Given the description of an element on the screen output the (x, y) to click on. 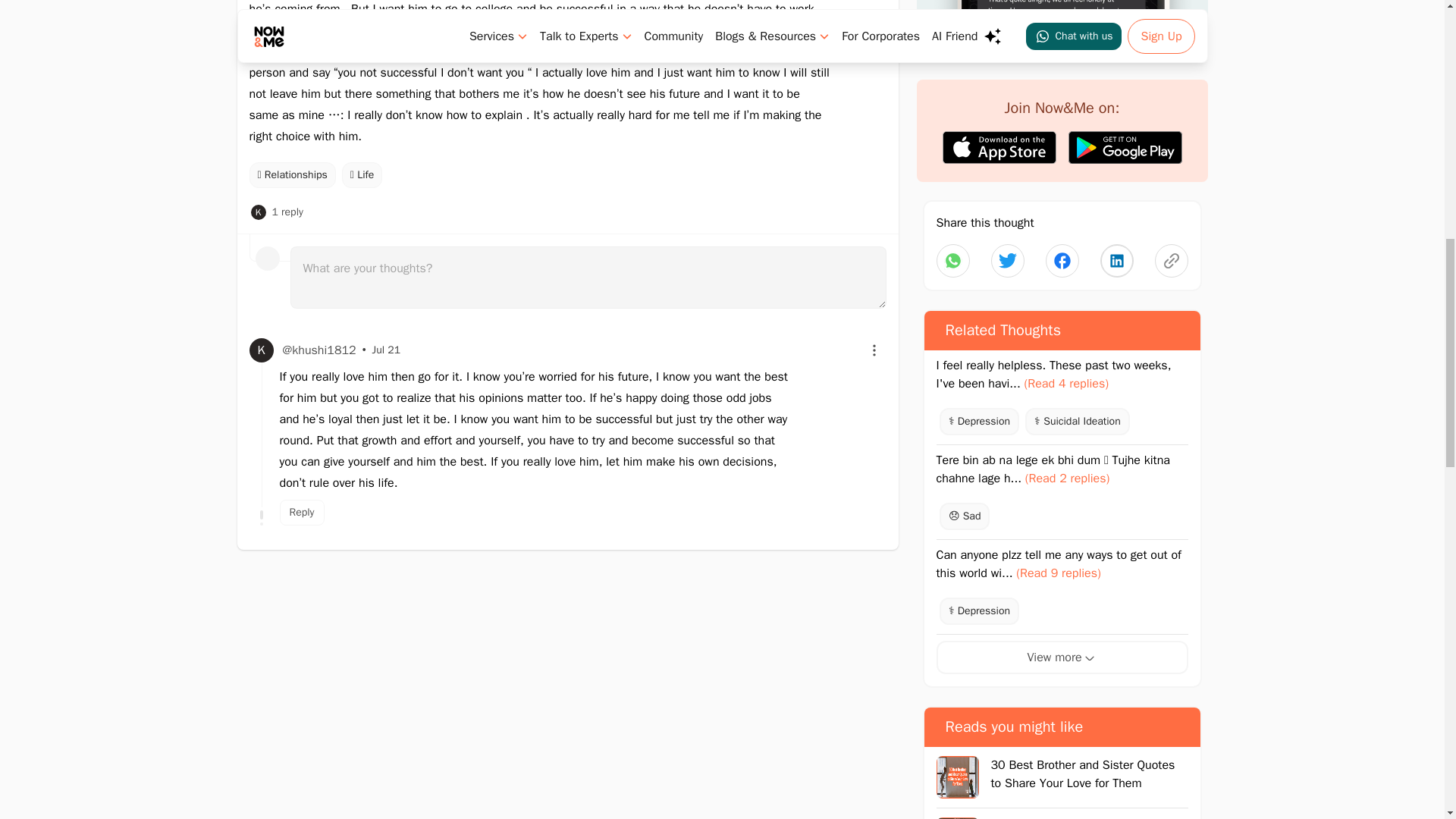
Share on Twitter (1006, 260)
Share on Twitter (1115, 260)
Share on WhatsApp (952, 260)
Share on Twitter (1061, 260)
